Given the description of an element on the screen output the (x, y) to click on. 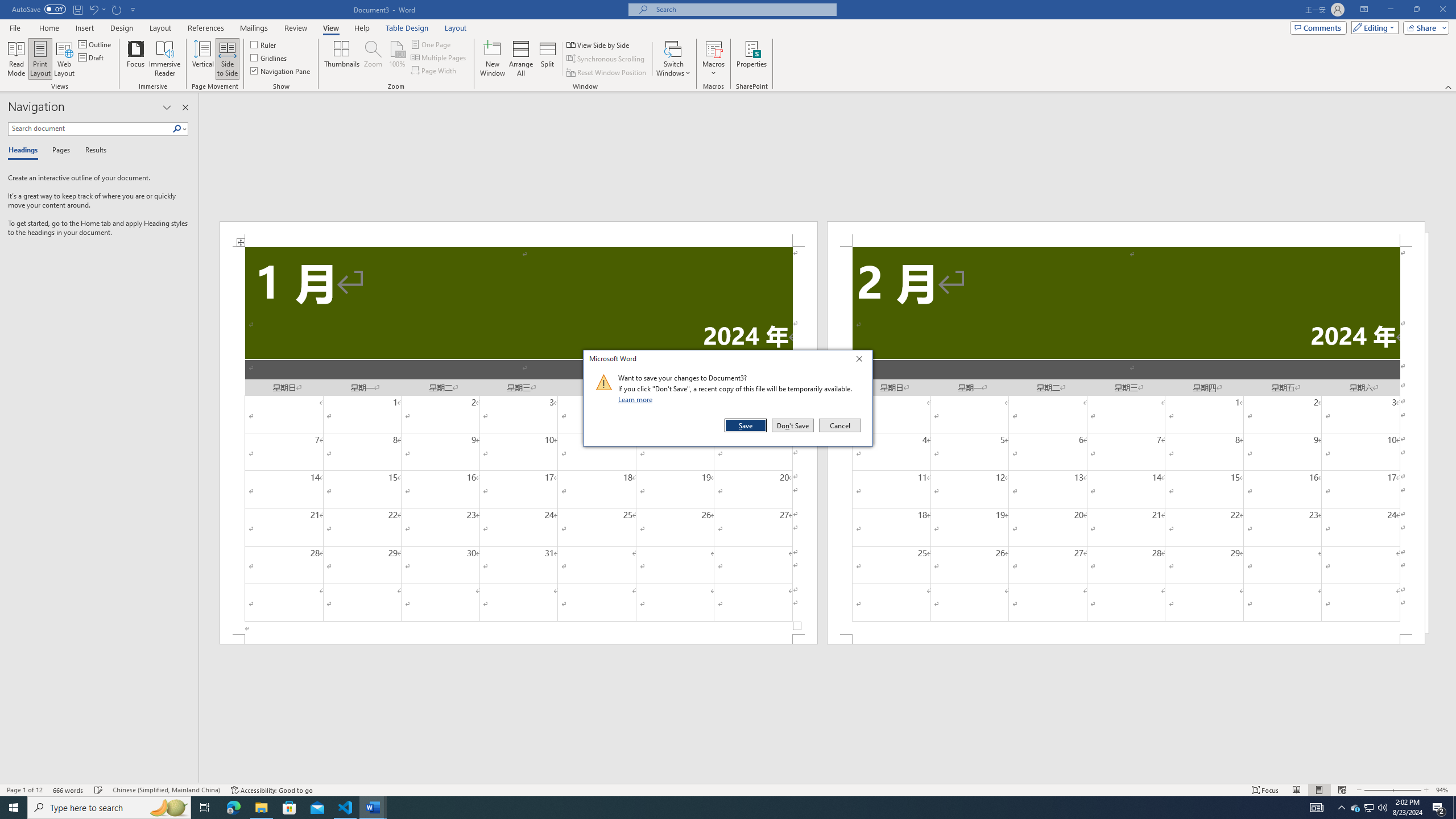
Task View (204, 807)
Immersive Reader (165, 58)
Running applications (717, 807)
Reset Window Position (606, 72)
Macros (713, 58)
Focus (135, 58)
Notification Chevron (1341, 807)
